Given the description of an element on the screen output the (x, y) to click on. 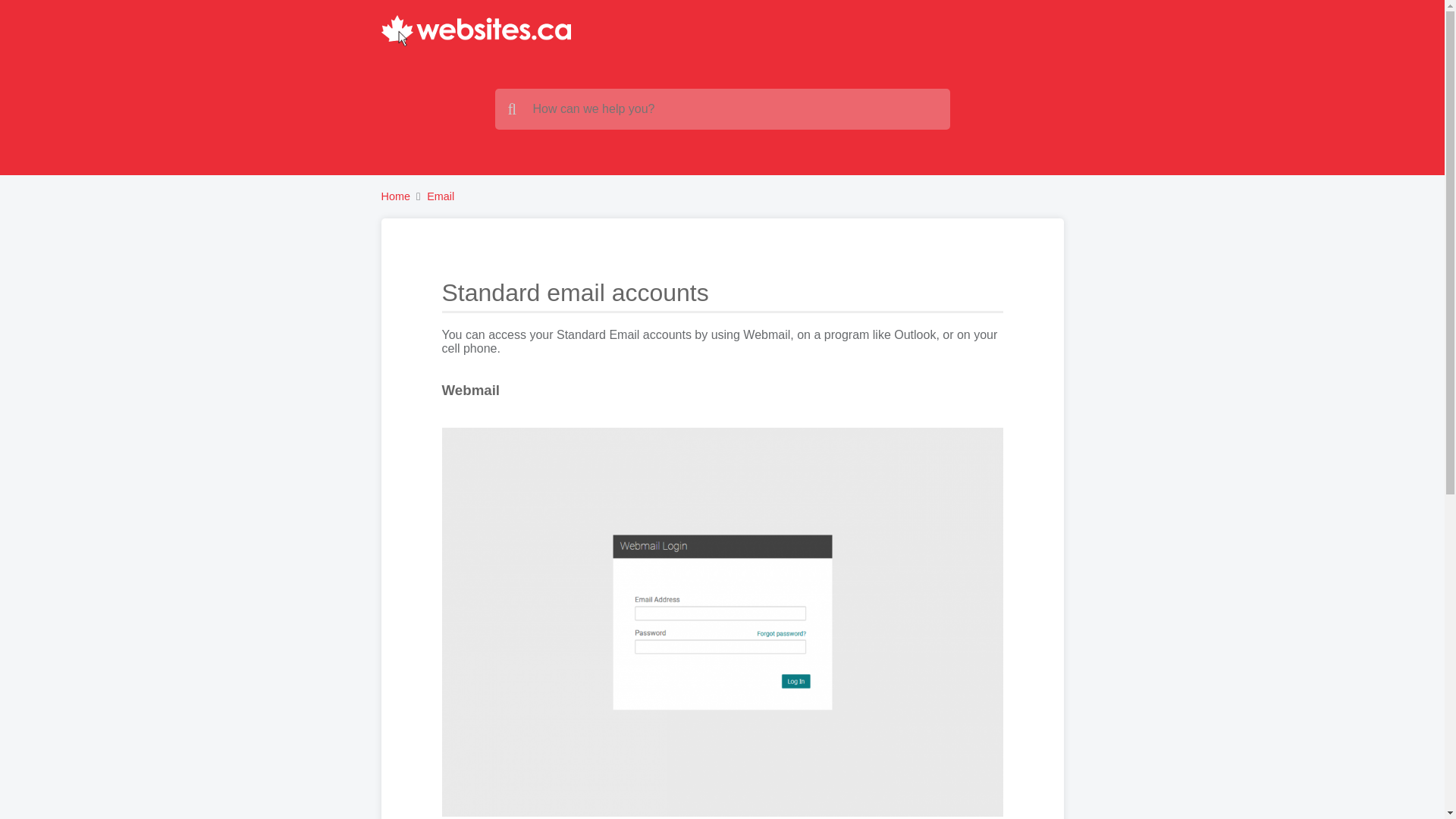
Email (440, 196)
Websites.ca (475, 30)
-"search" (722, 108)
Home (394, 196)
